Given the description of an element on the screen output the (x, y) to click on. 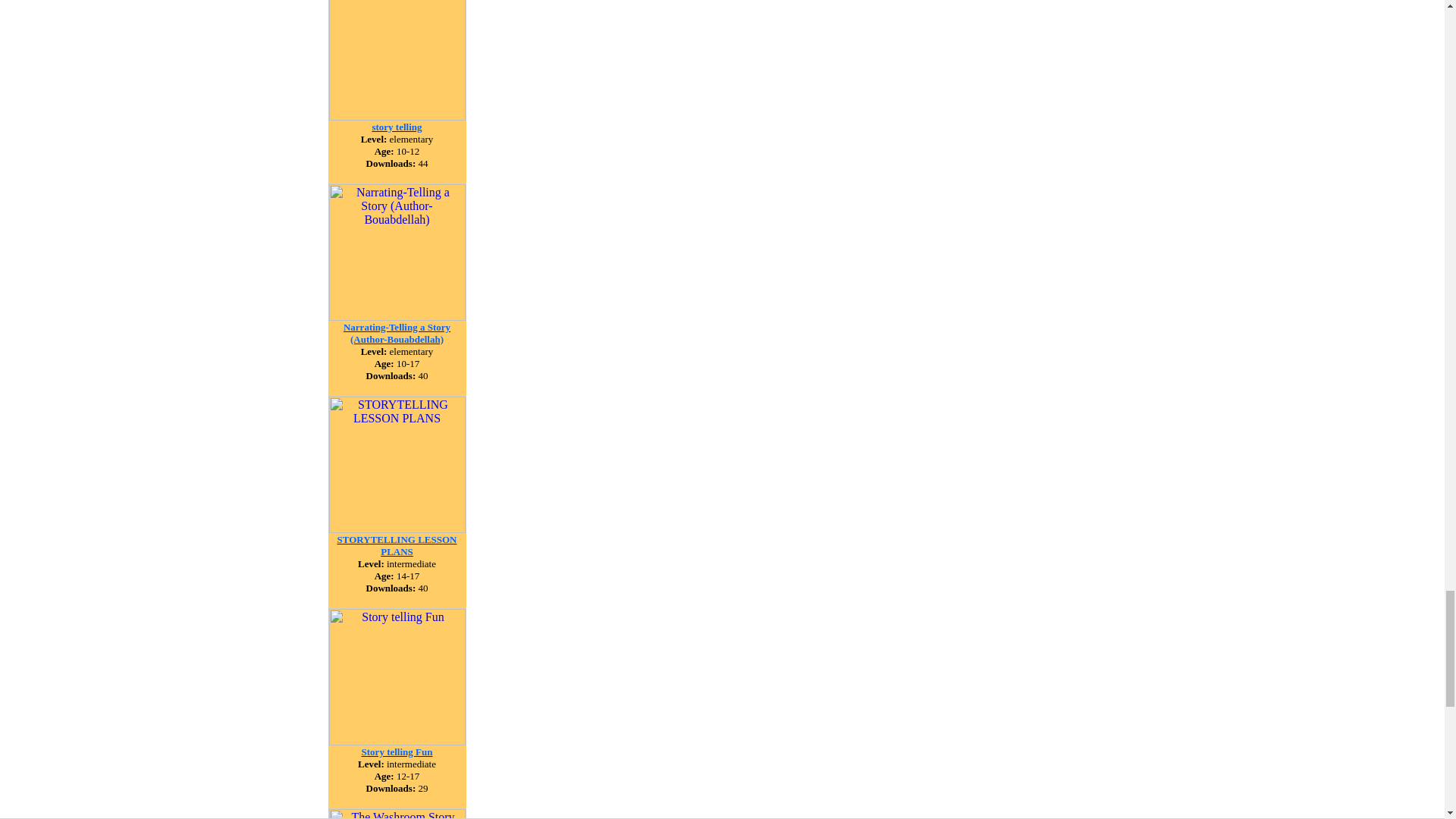
Story telling Fun (396, 750)
story telling (396, 125)
STORYTELLING LESSON PLANS (397, 544)
